Given the description of an element on the screen output the (x, y) to click on. 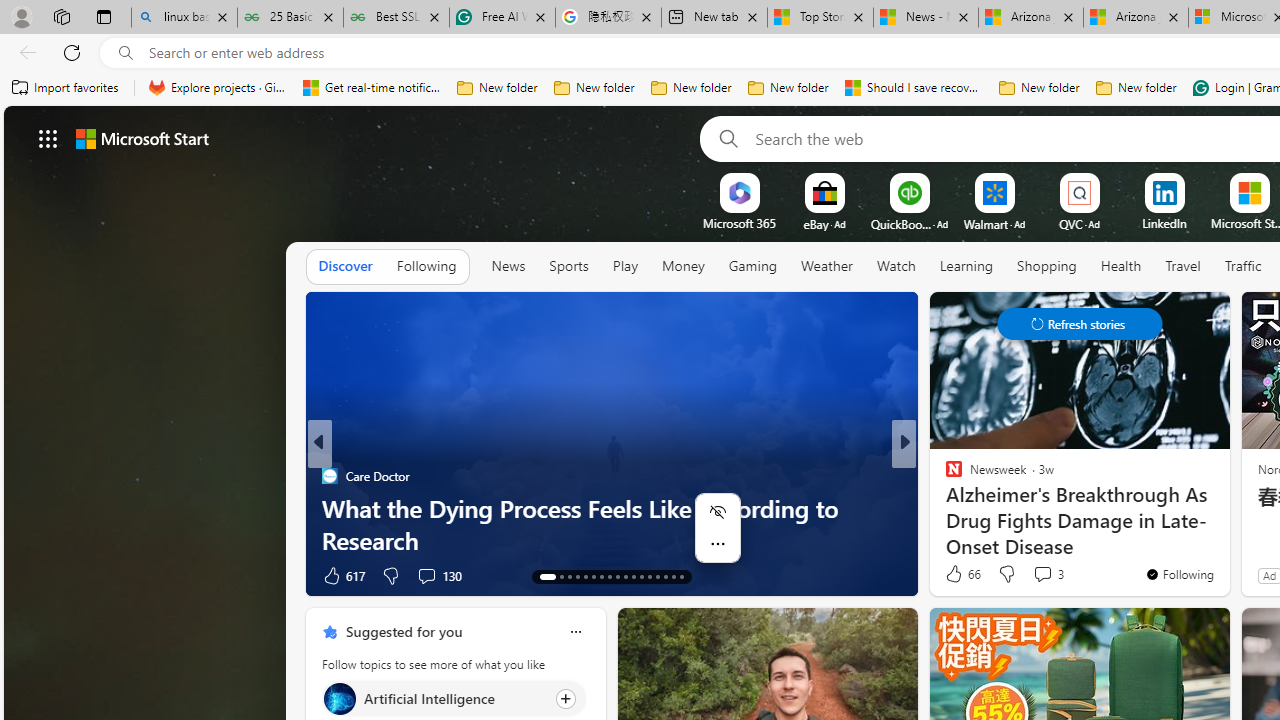
Housely (944, 507)
Nordace.com (972, 507)
Top Stories - MSN (820, 17)
450 Like (342, 574)
Best SSL Certificates Provider in India - GeeksforGeeks (396, 17)
AutomationID: tab-20 (609, 576)
Microsoft start (142, 138)
Artificial Intelligence (338, 697)
Shape (944, 507)
